Given the description of an element on the screen output the (x, y) to click on. 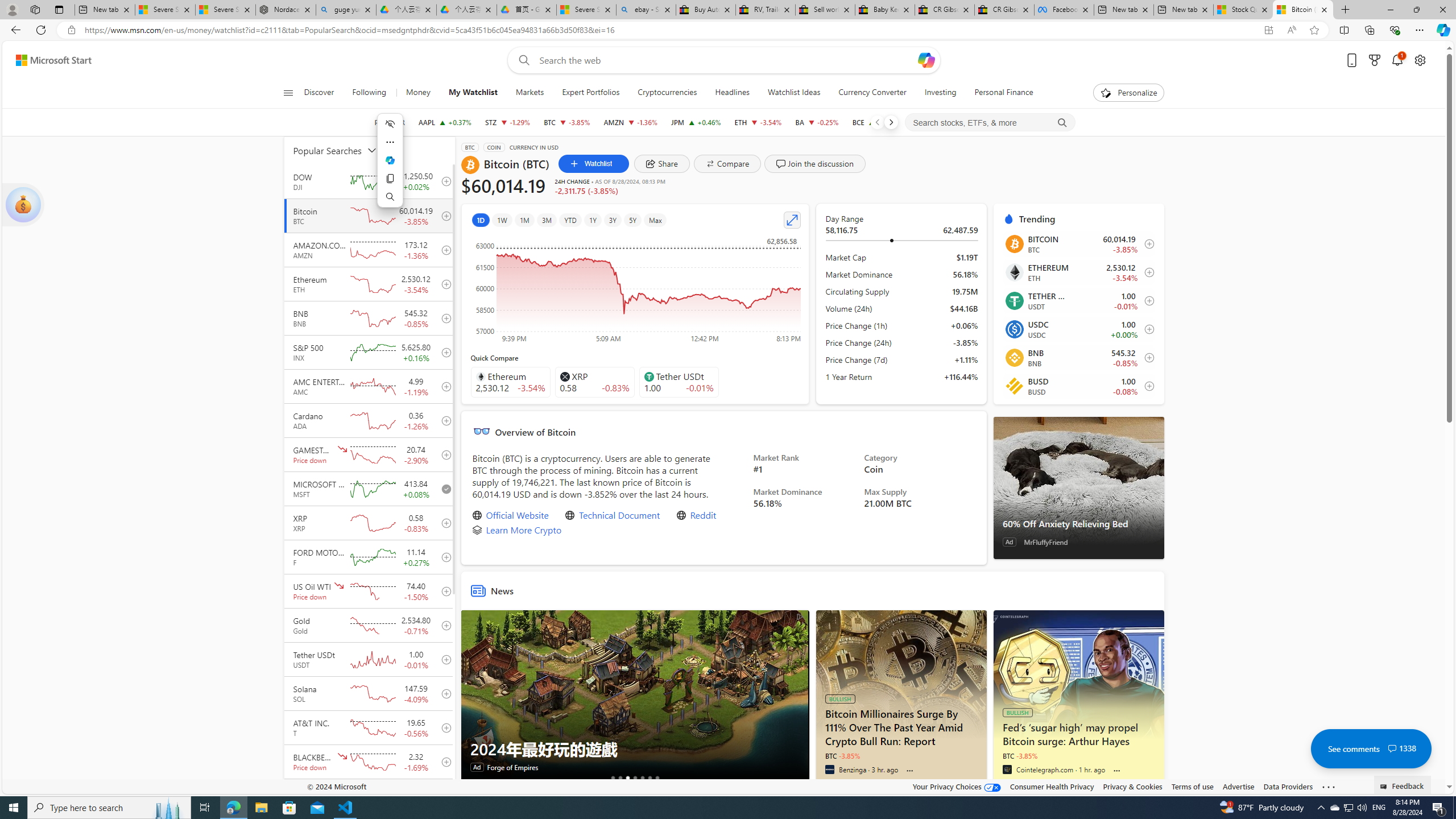
AdChoices (799, 616)
Bitcoin (1013, 244)
remove from your watchlist (442, 488)
AMZN AMAZON.COM, INC. decrease 173.12 -2.38 -1.36% (630, 122)
POPULAR (389, 121)
share dialog (662, 163)
